Given the description of an element on the screen output the (x, y) to click on. 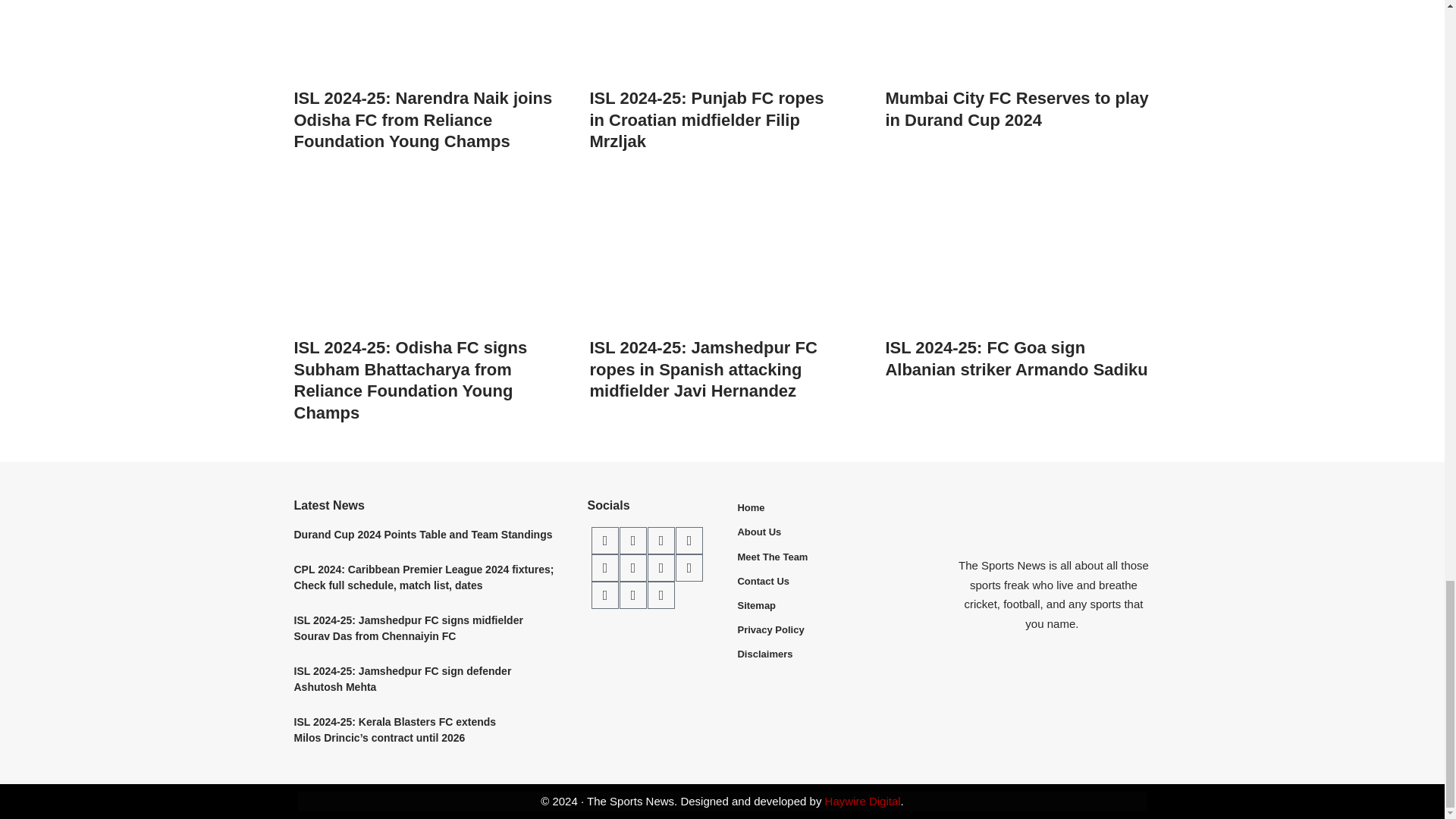
Mumbai City FC Reserves to play in Durand Cup 2024 (1017, 39)
ISL 2024-25: FC Goa sign Albanian striker Armando Sadiku (1017, 253)
